Given the description of an element on the screen output the (x, y) to click on. 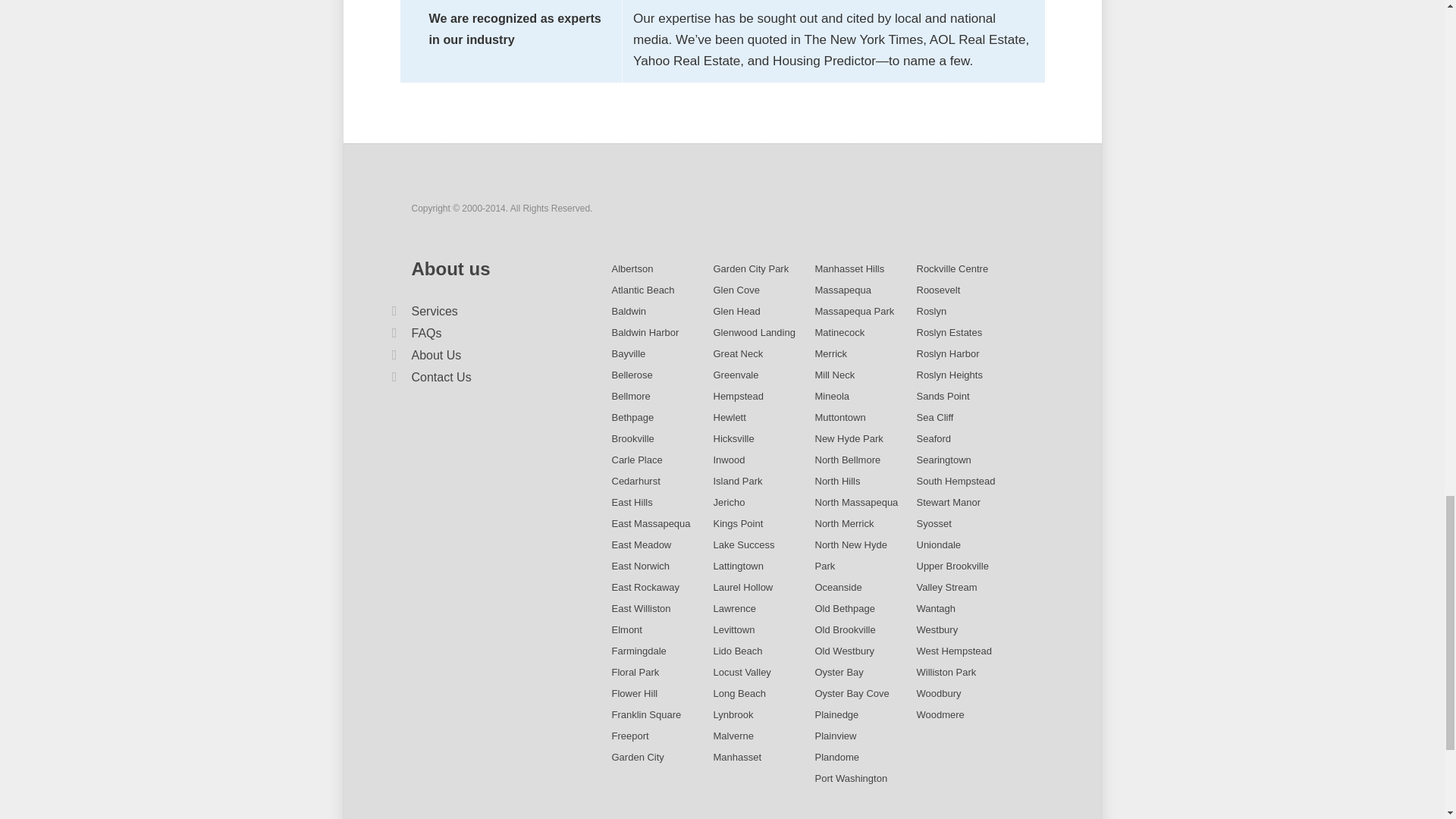
Farmingdale (638, 650)
Franklin Square (646, 714)
About Us (435, 354)
East Massapequa (650, 523)
East Norwich (640, 565)
Flower Hill (634, 693)
East Williston (640, 608)
Albertson (631, 268)
Floral Park (635, 672)
Contact Us (440, 377)
Brookville (632, 438)
Freeport (629, 736)
East Rockaway (645, 586)
Services (433, 310)
East Hills (631, 501)
